Given the description of an element on the screen output the (x, y) to click on. 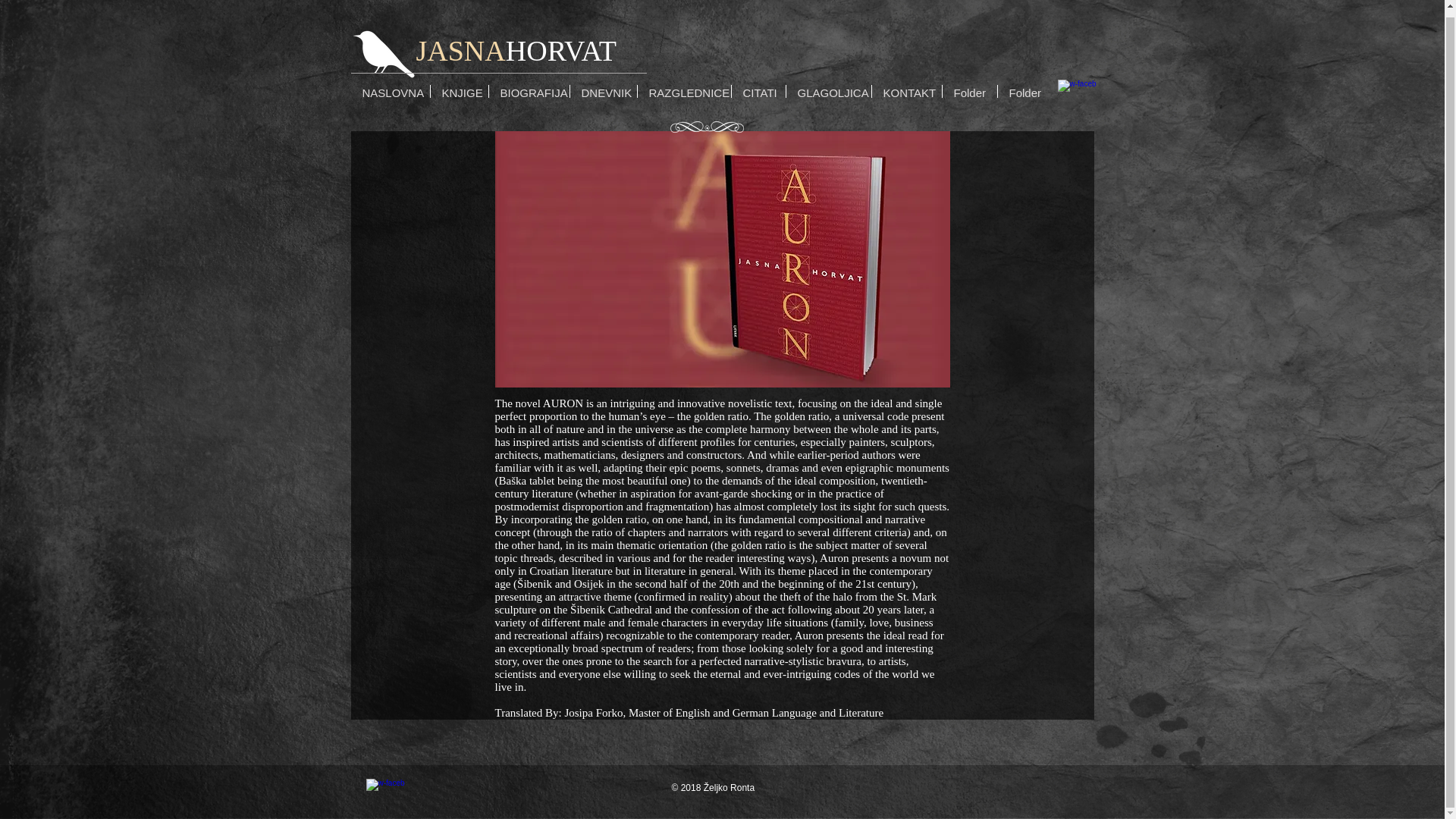
KONTAKT (907, 84)
CITATI (757, 84)
JASNAHORVAT (514, 44)
NASLOVNA (389, 84)
1.png (706, 120)
KNJIGE (458, 84)
GLAGOLJICA (828, 84)
RAZGLEDNICE (683, 84)
BIOGRAFIJA (528, 84)
DNEVNIK (603, 84)
